Given the description of an element on the screen output the (x, y) to click on. 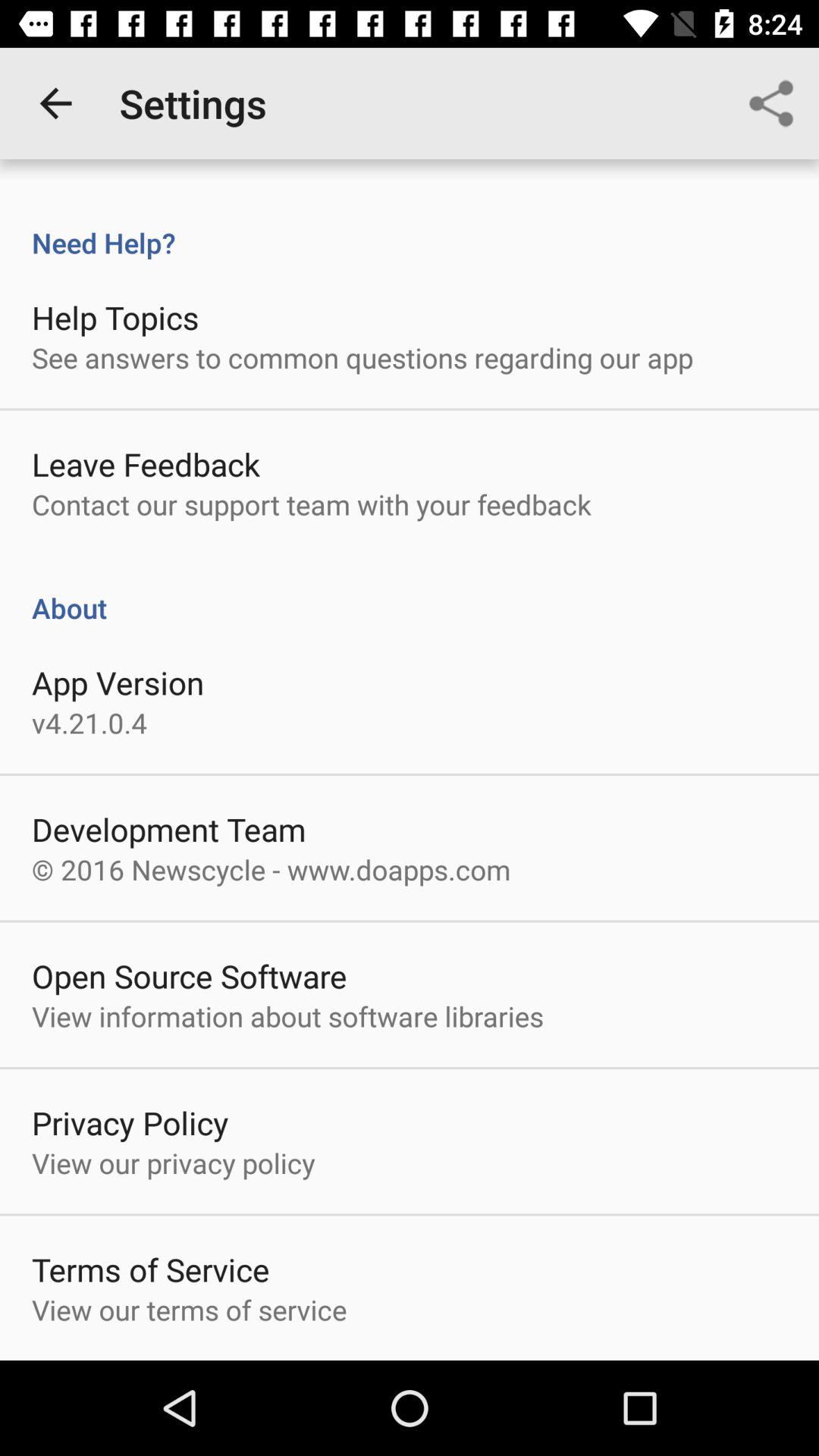
open the need help? icon (409, 226)
